Given the description of an element on the screen output the (x, y) to click on. 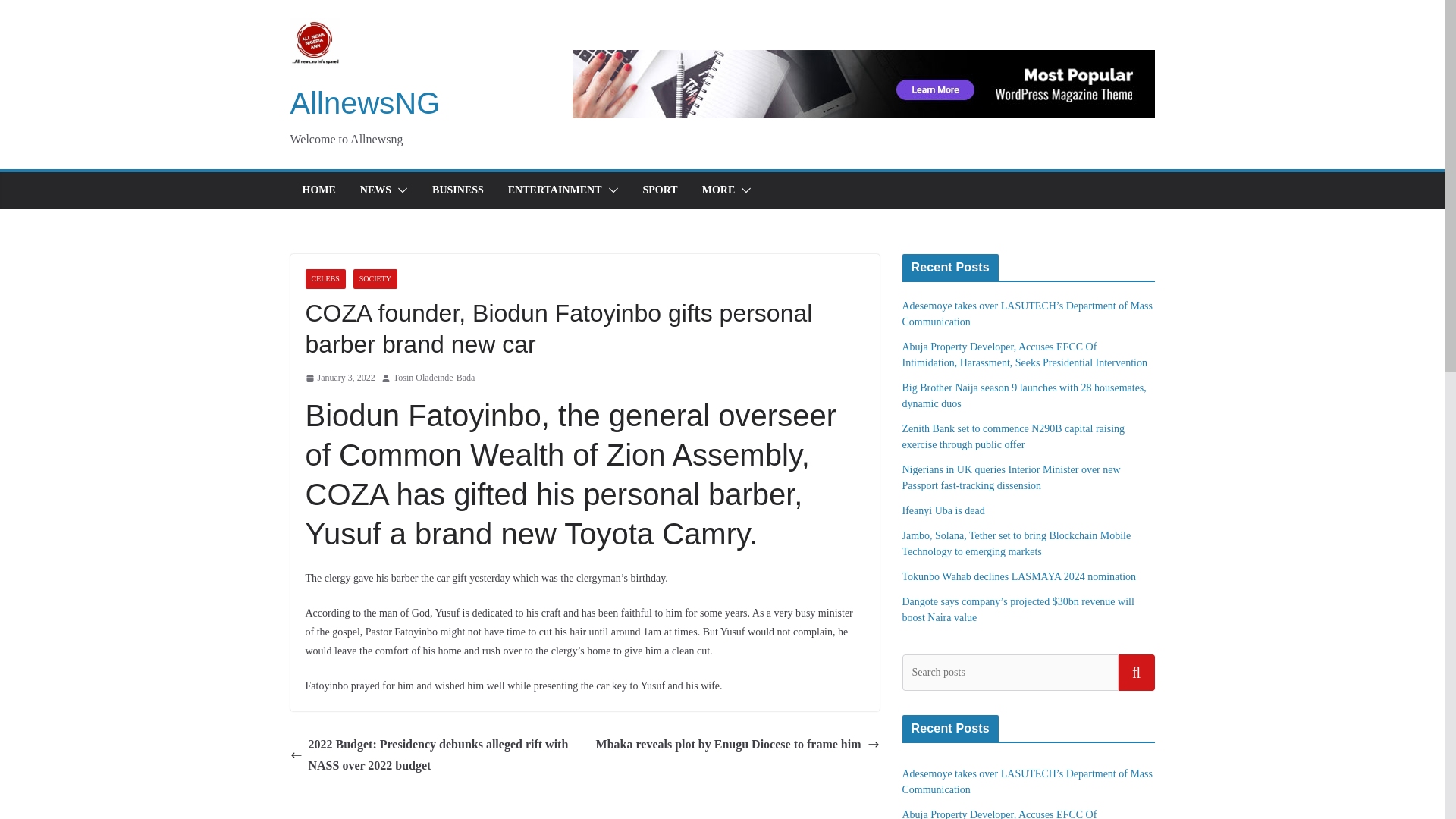
Search (1136, 672)
AllnewsNG (364, 102)
SPORT (660, 189)
Tosin Oladeinde-Bada (433, 378)
10:51 am (339, 378)
HOME (317, 189)
CELEBS (324, 279)
